Given the description of an element on the screen output the (x, y) to click on. 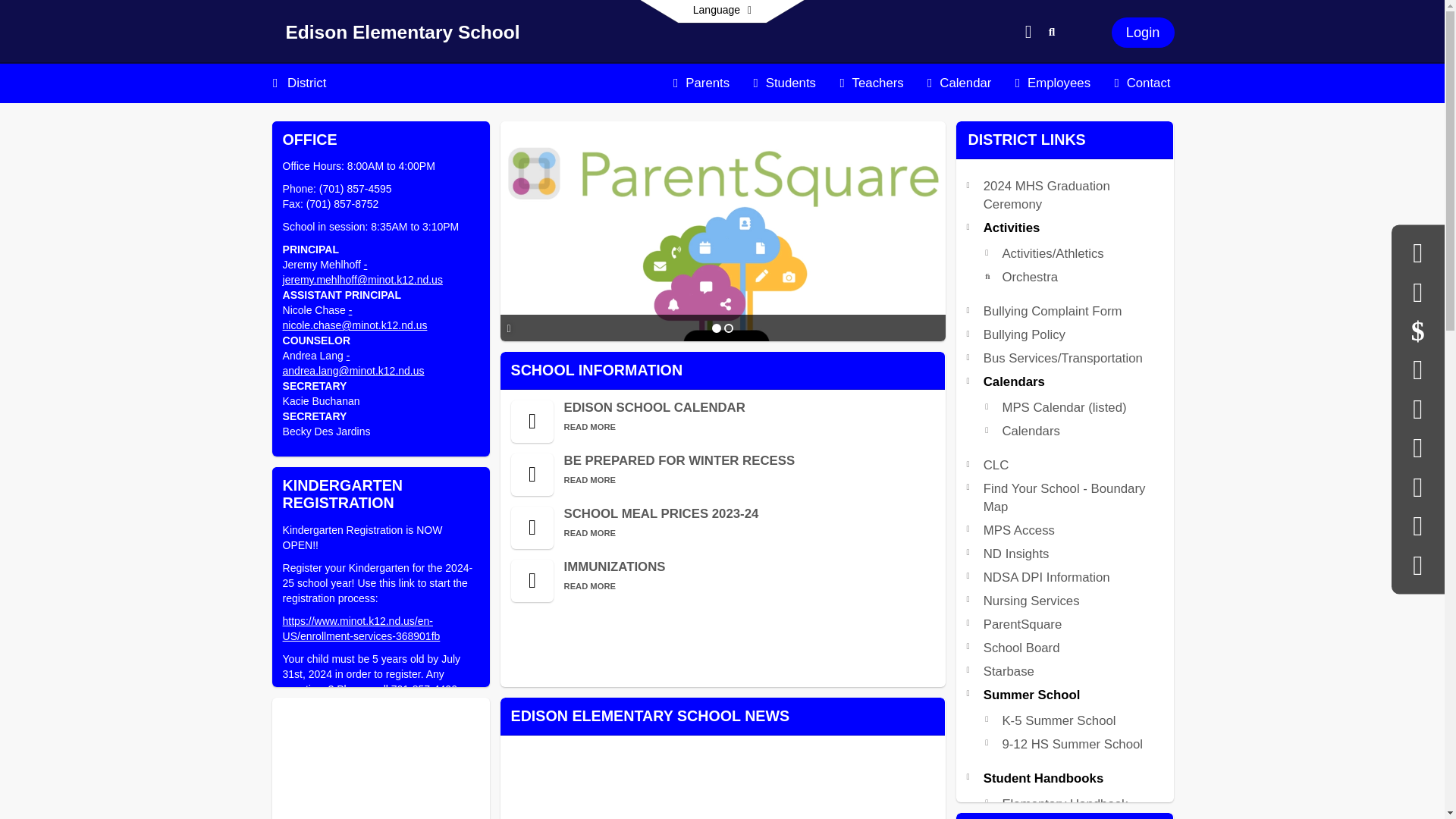
Calendar (959, 83)
Bullying Policy (1024, 334)
Parents (700, 83)
Login (1143, 32)
Teachers (871, 83)
Edison Elementary School (402, 34)
Orchestra (1029, 277)
Language (721, 11)
Students (784, 83)
Employees (1052, 83)
Contact (1141, 83)
Edison Elementary School (402, 34)
Bullying Complaint Form (1053, 310)
2024 MHS Graduation Ceremony (1046, 195)
District (306, 83)
